Given the description of an element on the screen output the (x, y) to click on. 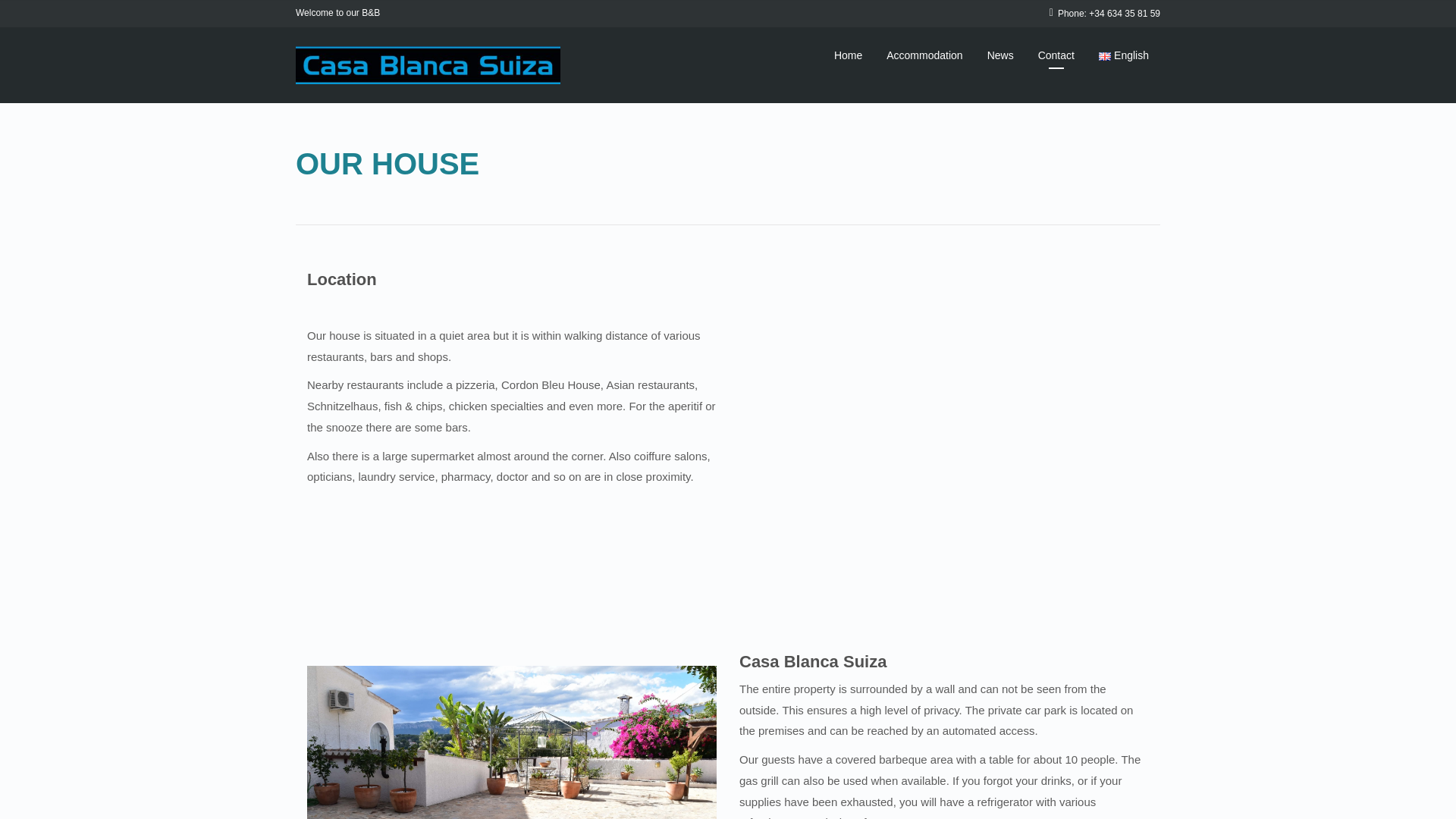
Contact (1056, 55)
English (1123, 55)
Accommodation (924, 55)
